Given the description of an element on the screen output the (x, y) to click on. 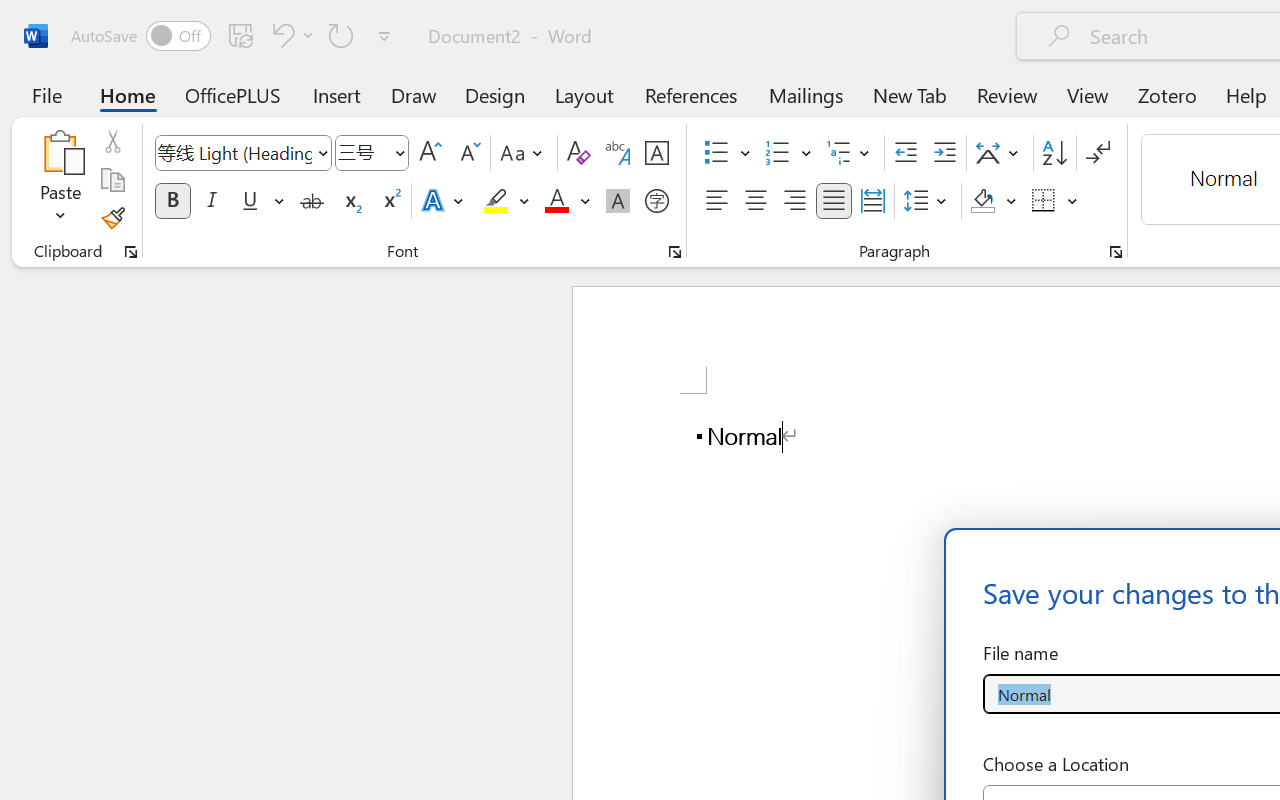
Font (234, 152)
Enclose Characters... (656, 201)
Numbering (788, 153)
Borders (1044, 201)
Review (1007, 94)
Font... (675, 252)
Quick Access Toolbar (233, 36)
Align Left (716, 201)
Format Painter (112, 218)
Font Color (567, 201)
Save (241, 35)
Draw (413, 94)
AutoSave (140, 35)
Italic (212, 201)
View (1087, 94)
